Given the description of an element on the screen output the (x, y) to click on. 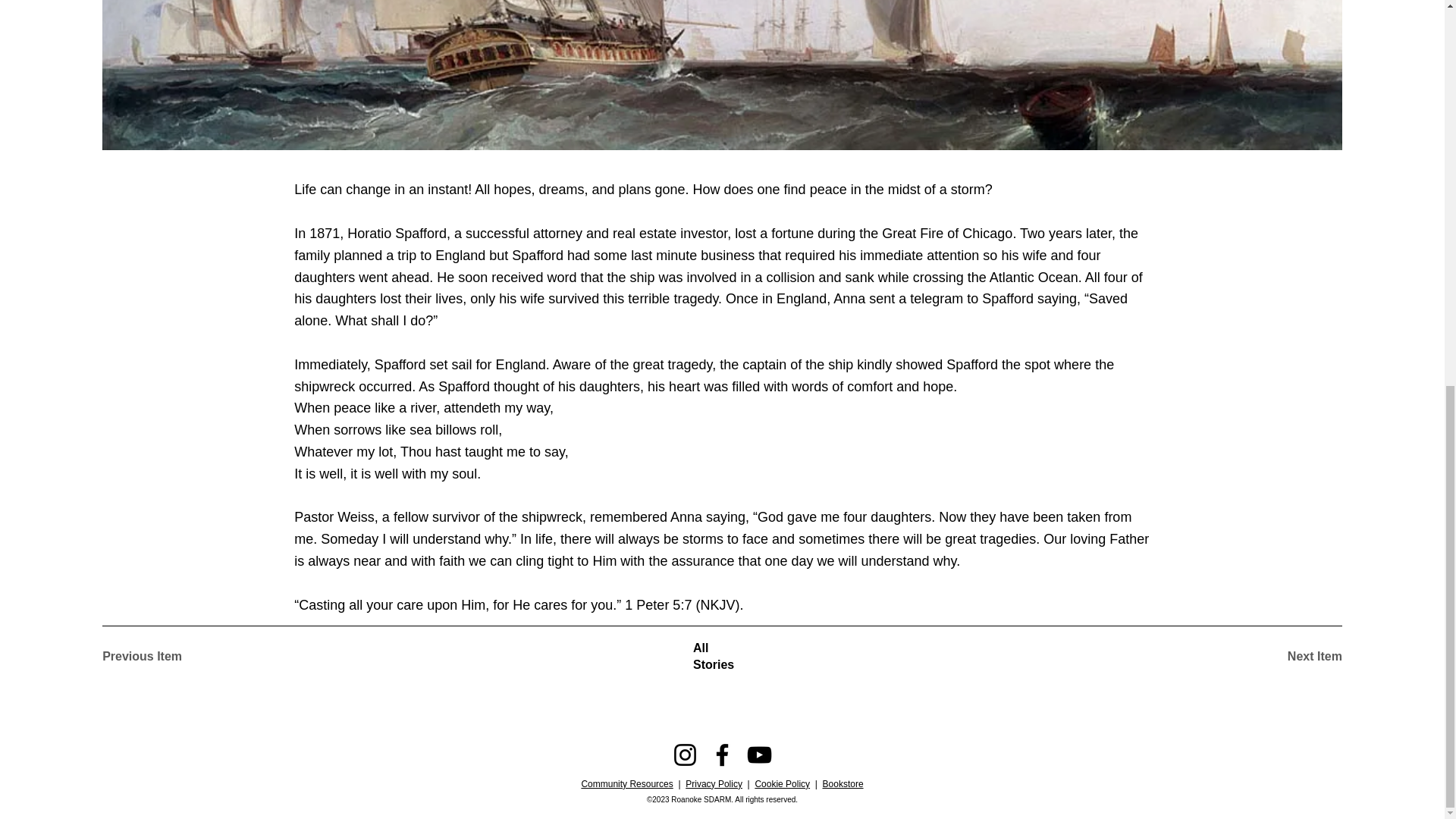
Privacy Policy (713, 783)
Next Item (1288, 656)
Bookstore (842, 783)
Cookie Policy (781, 783)
Community Resources (626, 783)
Previous Item (155, 656)
All Stories (722, 656)
